Given the description of an element on the screen output the (x, y) to click on. 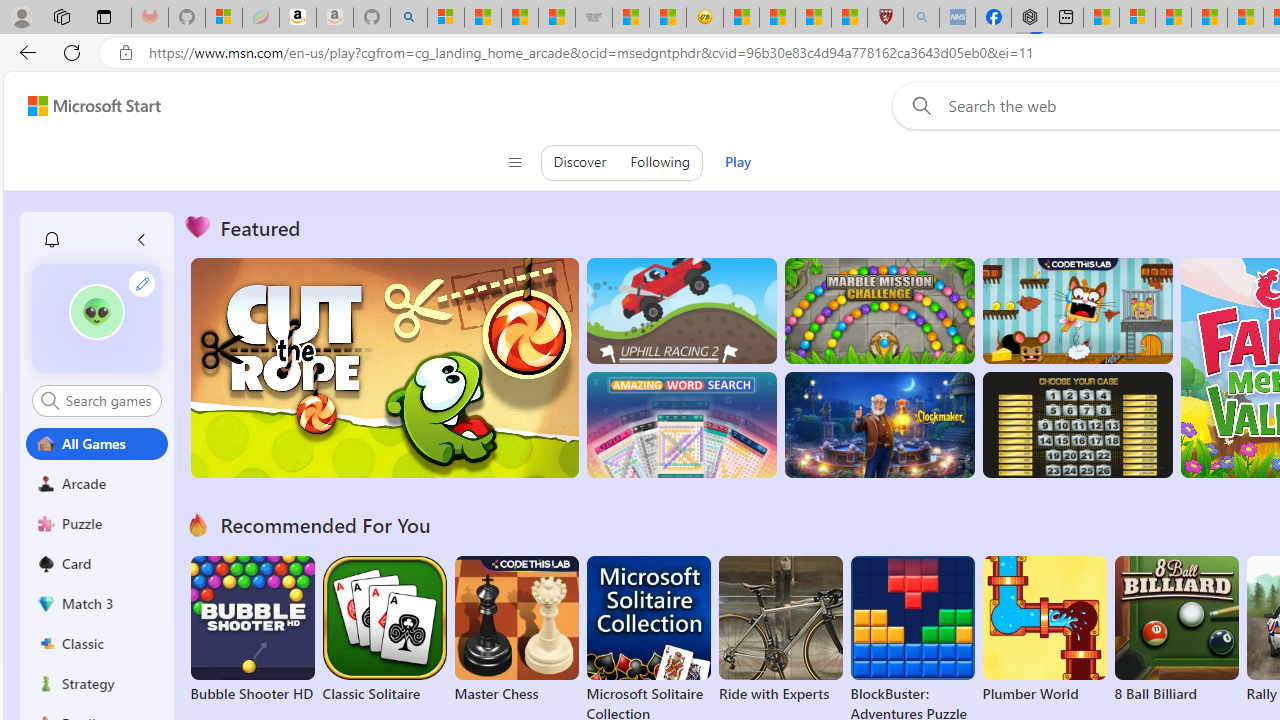
Class: notification-item (51, 239)
""'s avatar (97, 318)
Clockmaker (879, 425)
Up Hill Racing 2 (681, 310)
""'s avatar (96, 312)
